Given the description of an element on the screen output the (x, y) to click on. 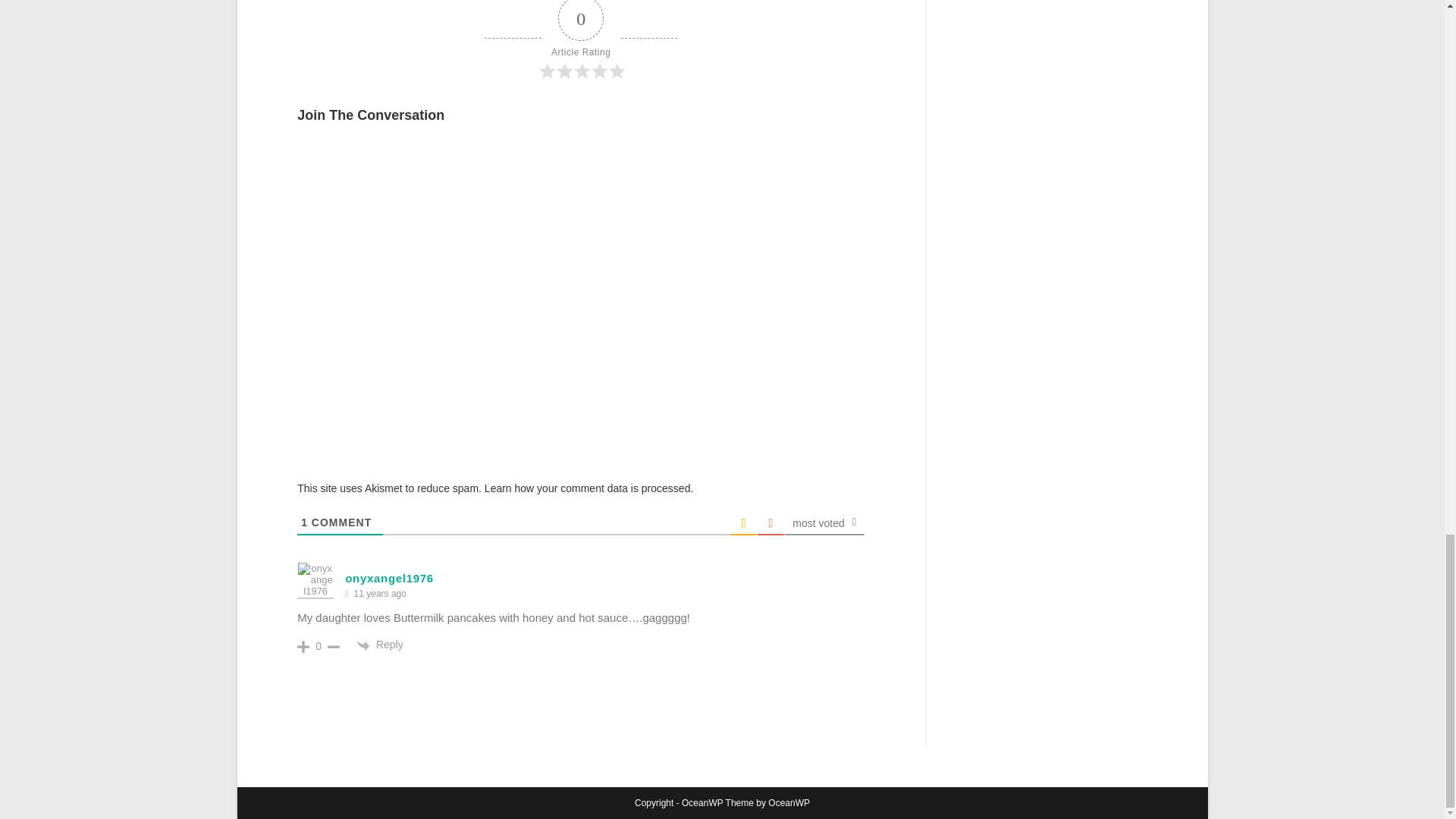
0 (317, 645)
August 22, 2013 3:20 pm (379, 594)
